Given the description of an element on the screen output the (x, y) to click on. 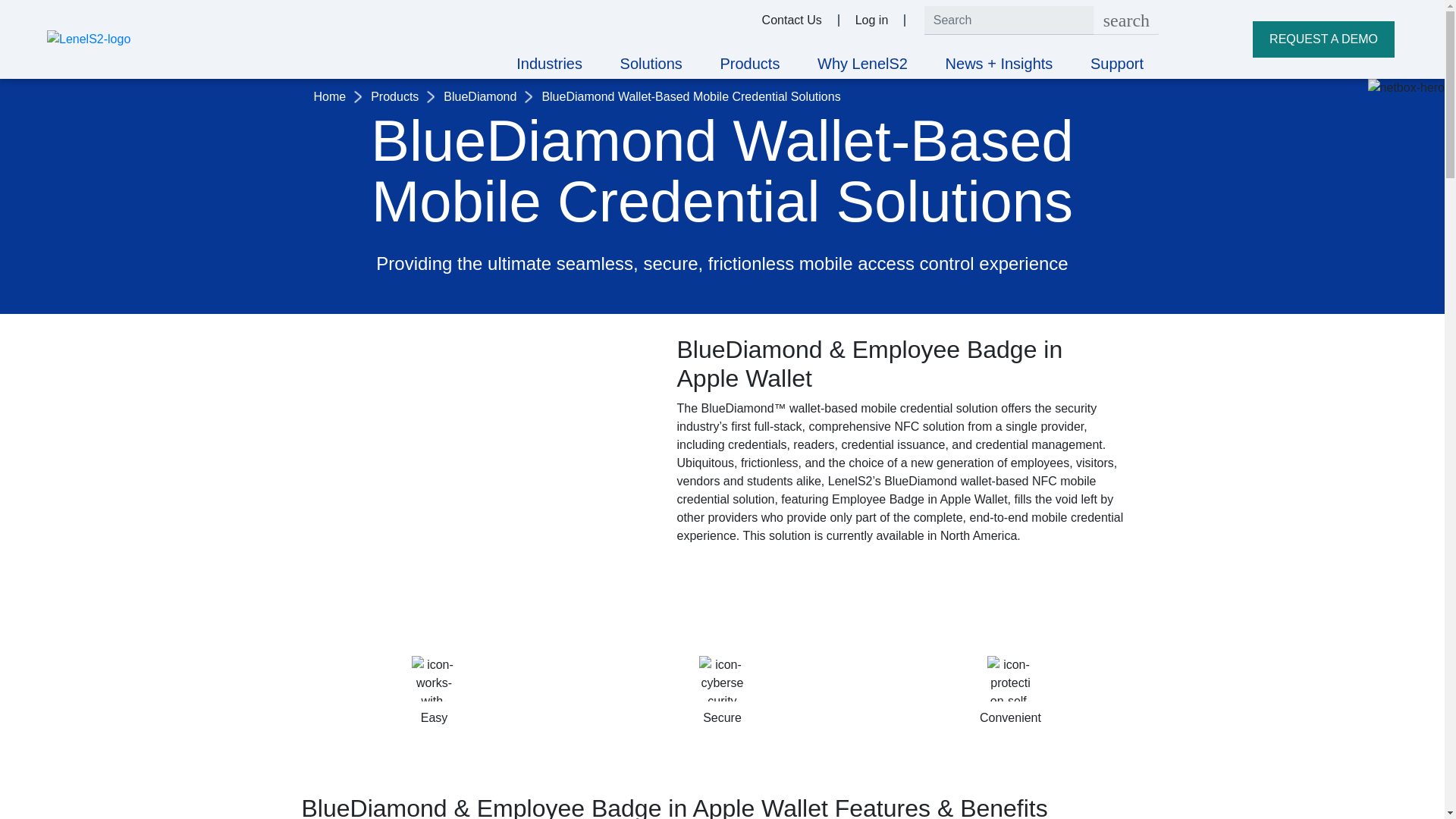
Industries (549, 65)
Log in (1125, 20)
Solutions (872, 20)
Contact Us (651, 65)
Support (791, 20)
Products (1116, 65)
REQUEST A DEMO (748, 65)
Why LenelS2 (1323, 39)
